Given the description of an element on the screen output the (x, y) to click on. 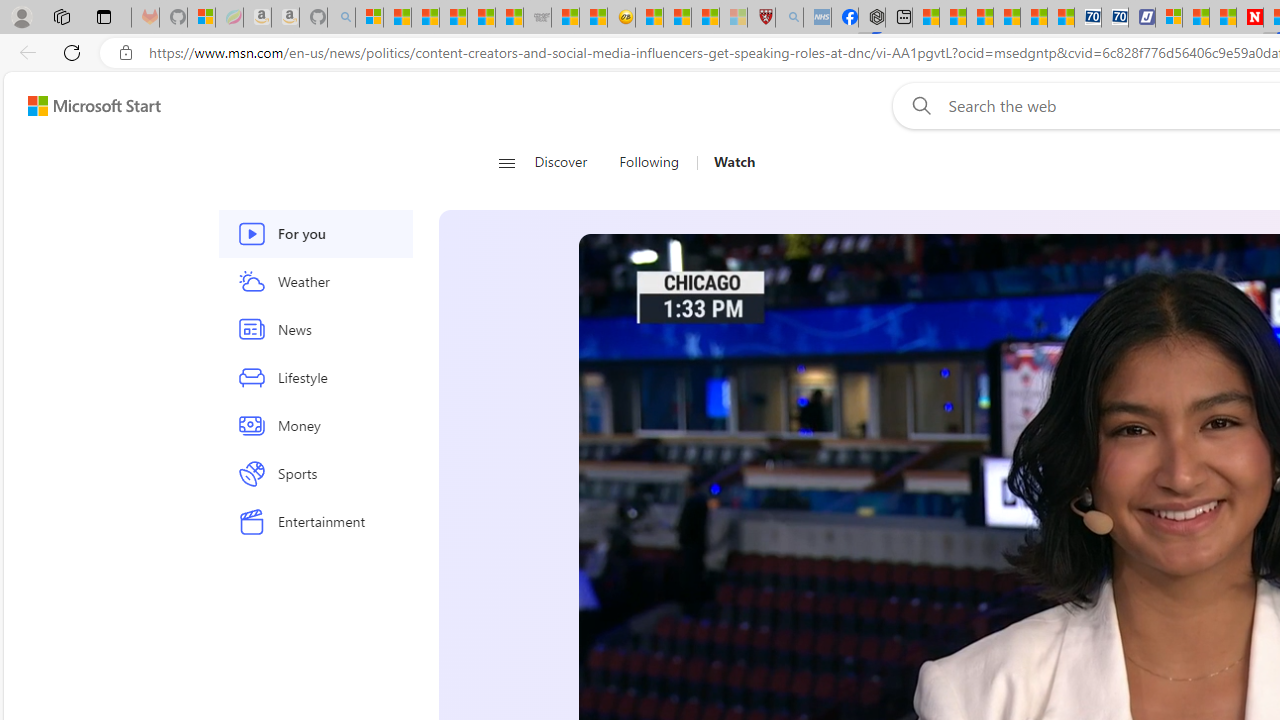
Watch (726, 162)
The Weather Channel - MSN (425, 17)
